Given the description of an element on the screen output the (x, y) to click on. 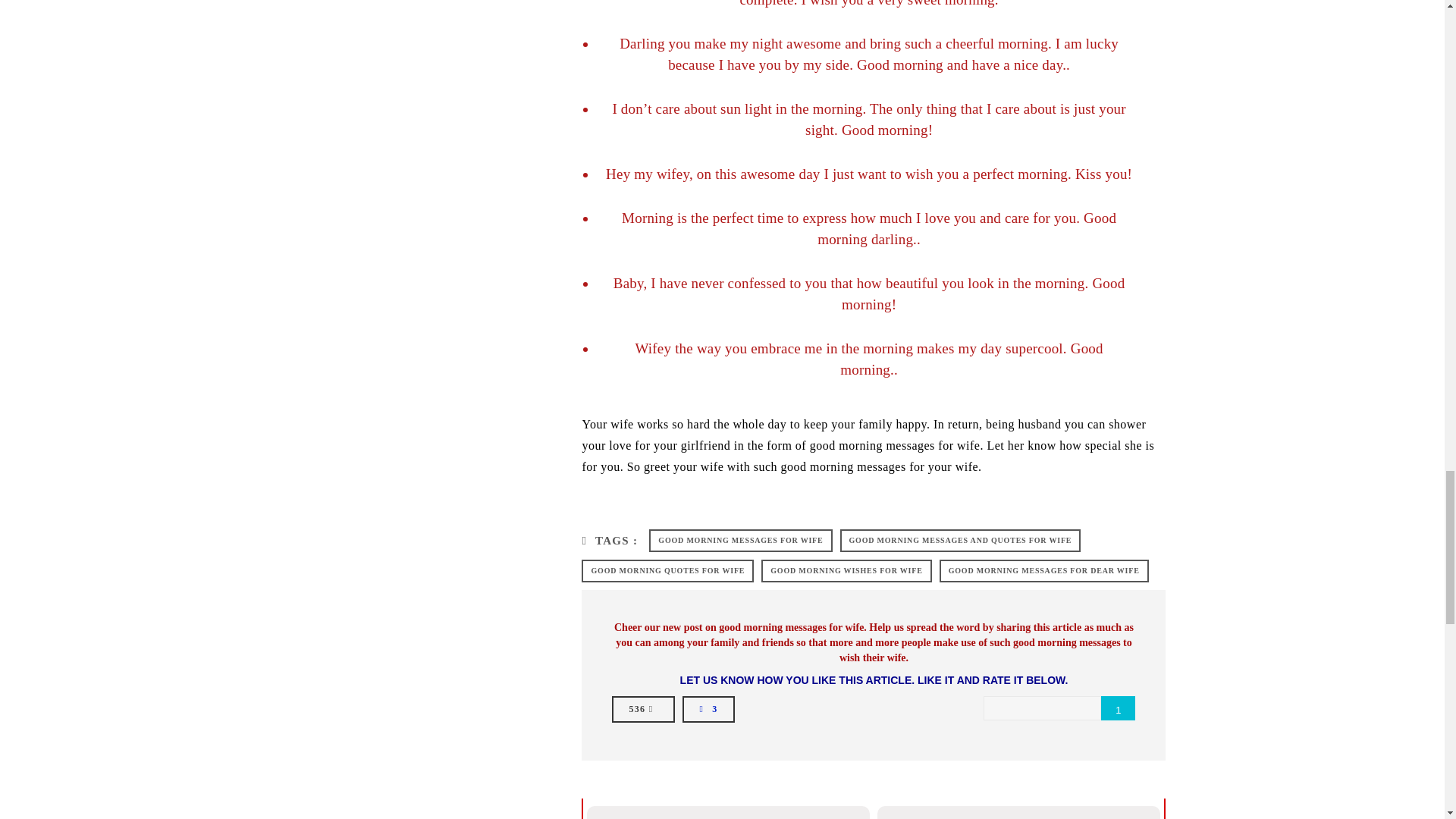
GOOD MORNING MESSAGES AND QUOTES FOR WIFE (960, 540)
GOOD MORNING MESSAGES FOR WIFE (740, 540)
GOOD MORNING WISHES FOR WIFE (846, 570)
GOOD MORNING MESSAGES FOR DEAR WIFE (1043, 570)
GOOD MORNING QUOTES FOR WIFE (667, 570)
3 (707, 708)
